Given the description of an element on the screen output the (x, y) to click on. 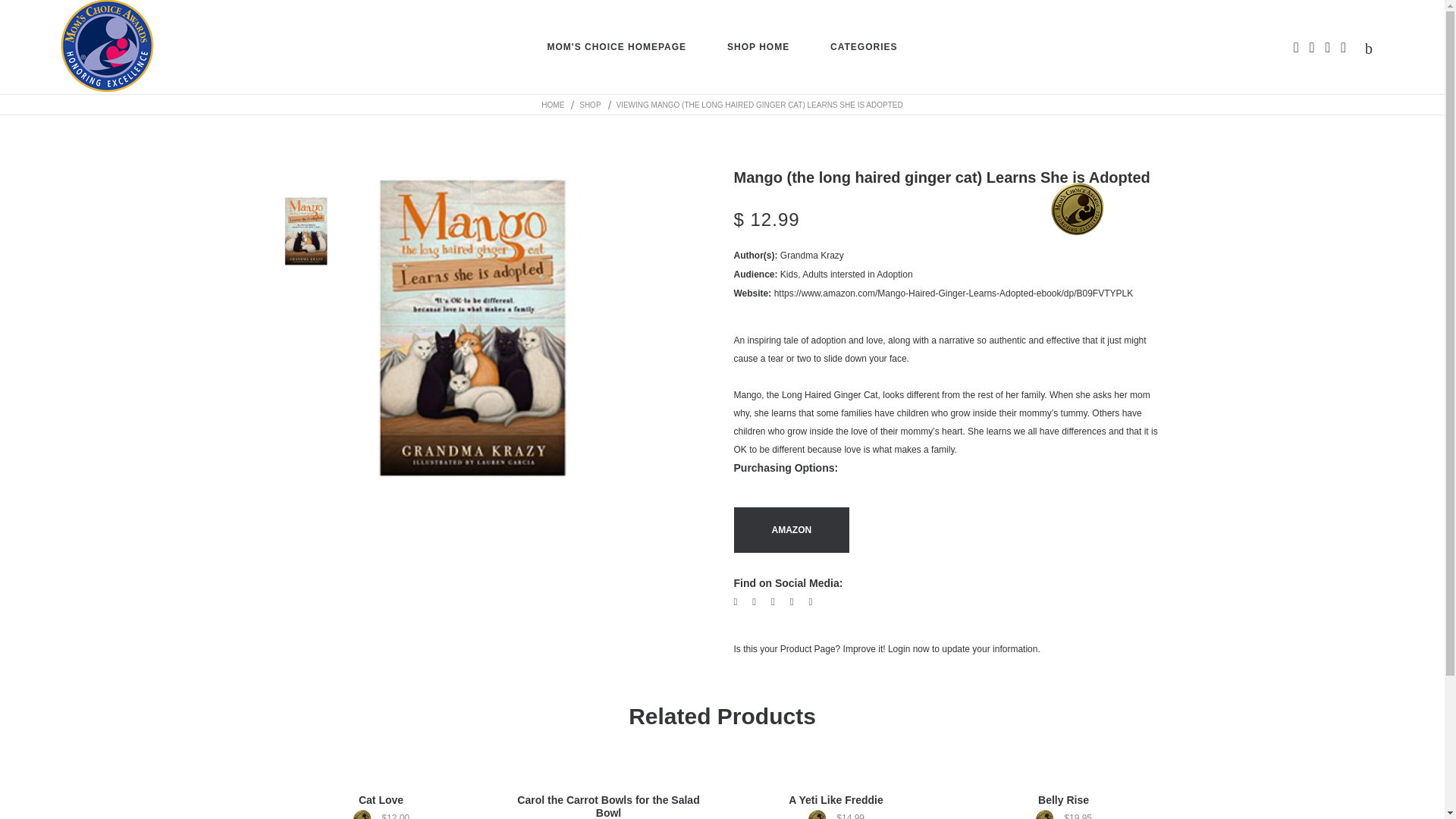
MCA Gold Award (1048, 814)
MCA Gold Award (821, 814)
SHOP HOME (757, 46)
MCA Gold Award (1076, 208)
MOM'S CHOICE HOMEPAGE (615, 46)
MCA Gold Award (365, 814)
CATEGORIES (862, 46)
